Given the description of an element on the screen output the (x, y) to click on. 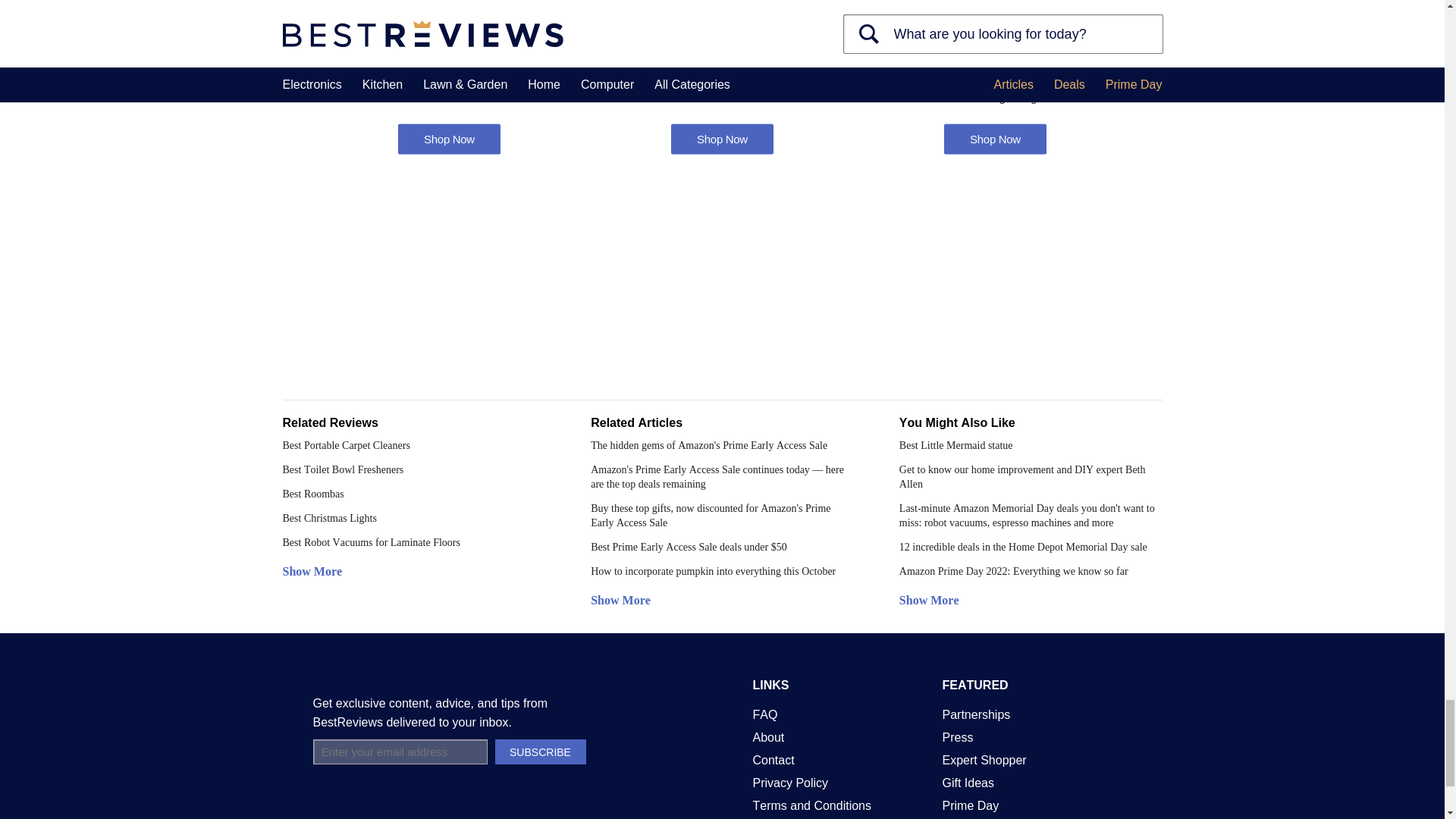
Contact Us (772, 759)
Subscribe email (399, 751)
Frequently asked questions (764, 714)
